Given the description of an element on the screen output the (x, y) to click on. 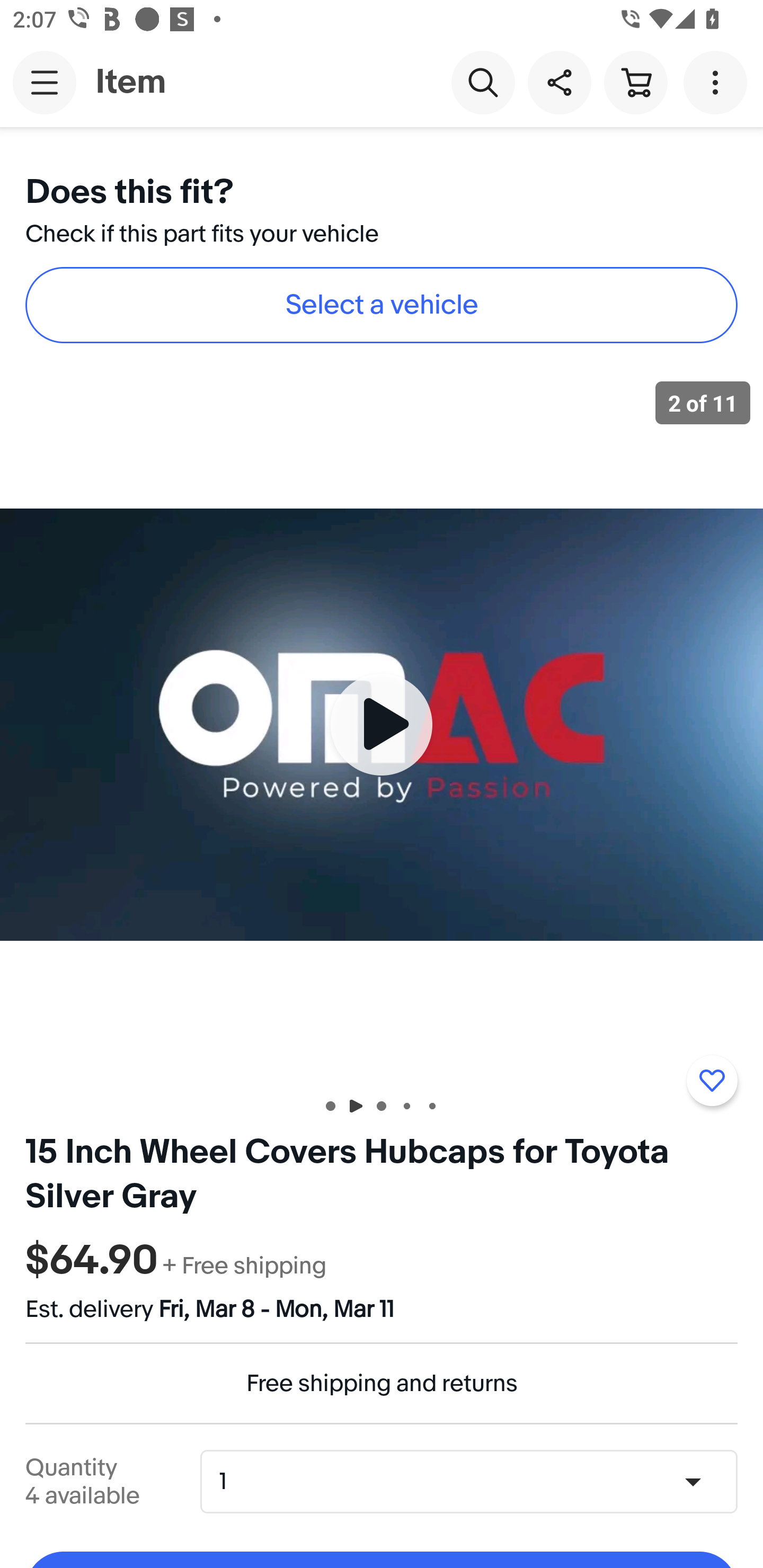
Main navigation, open (44, 82)
Search (482, 81)
Share this item (559, 81)
Cart button shopping cart (635, 81)
More options (718, 81)
Select a vehicle (381, 304)
Item image 2 of 11, plays video (381, 724)
Add to watchlist (711, 1080)
Quantity,1,4 available 1 (474, 1481)
